Given the description of an element on the screen output the (x, y) to click on. 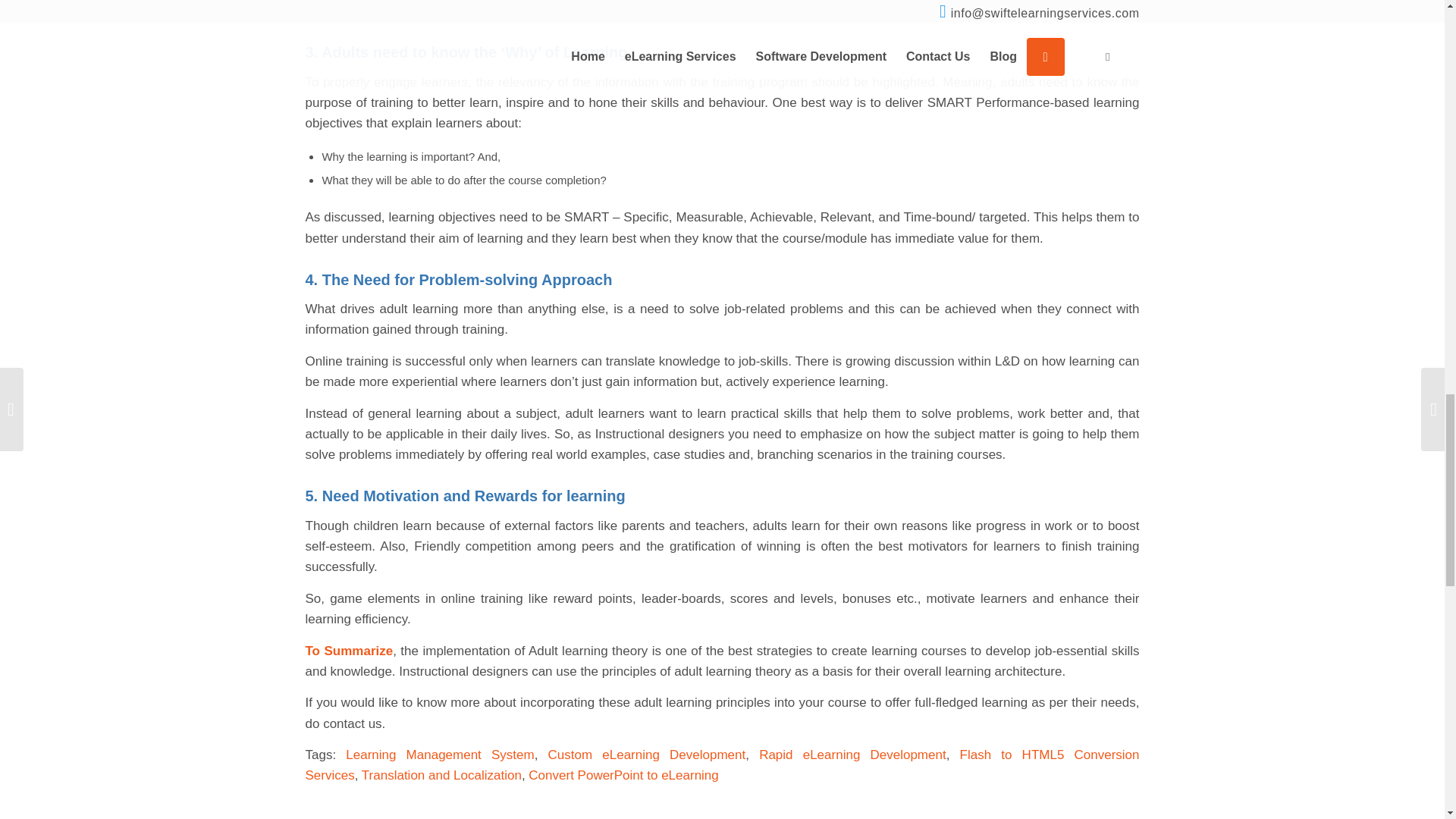
Learning Management System (440, 754)
Flash to HTML5 Conversion Services (721, 764)
Translation and Localization (441, 775)
Custom eLearning Development (646, 754)
Convert PowerPoint to eLearning (622, 775)
Rapid eLearning Development (852, 754)
